Given the description of an element on the screen output the (x, y) to click on. 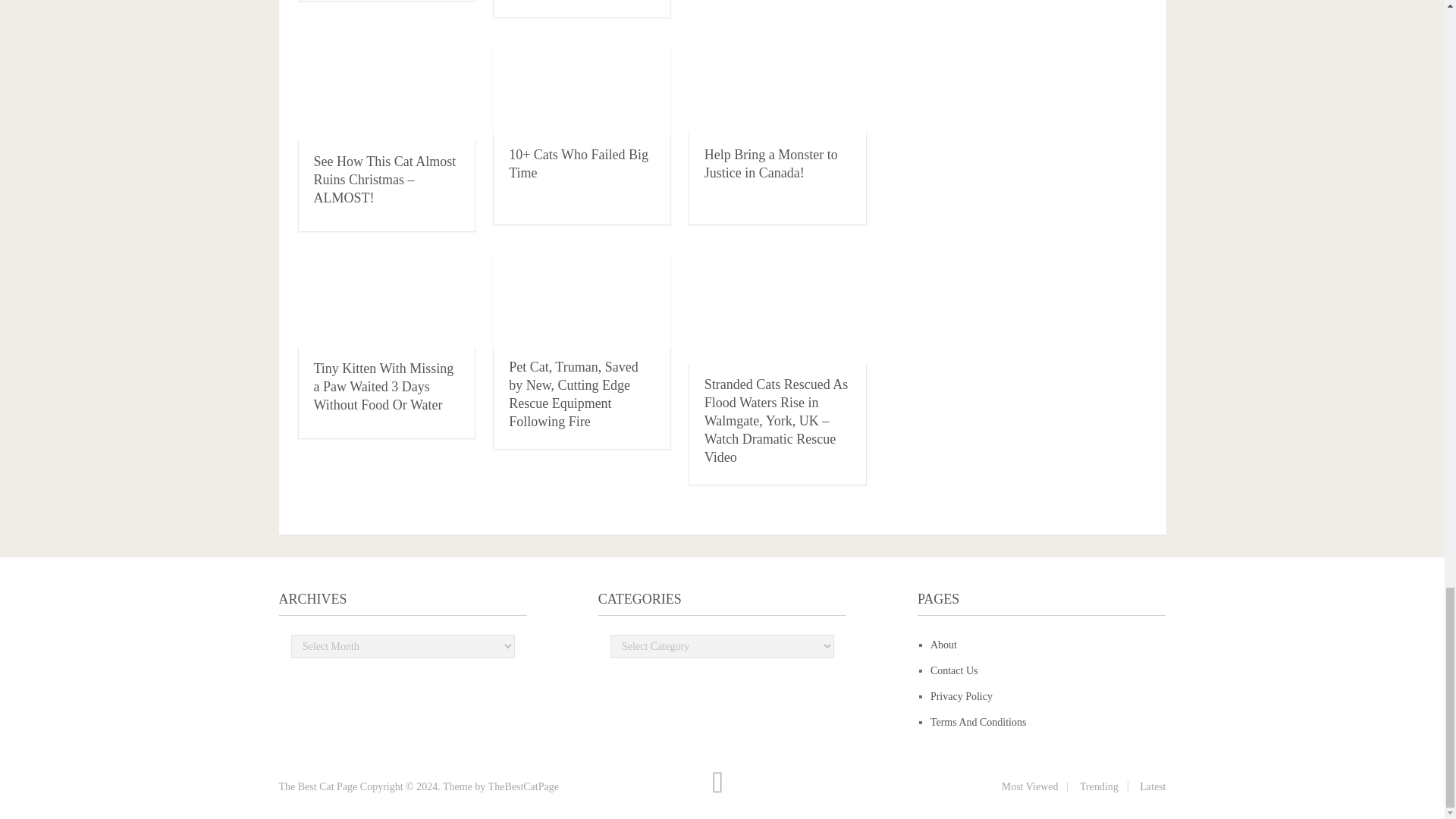
Help Bring a Monster to Justice in Canada! (771, 163)
